Given the description of an element on the screen output the (x, y) to click on. 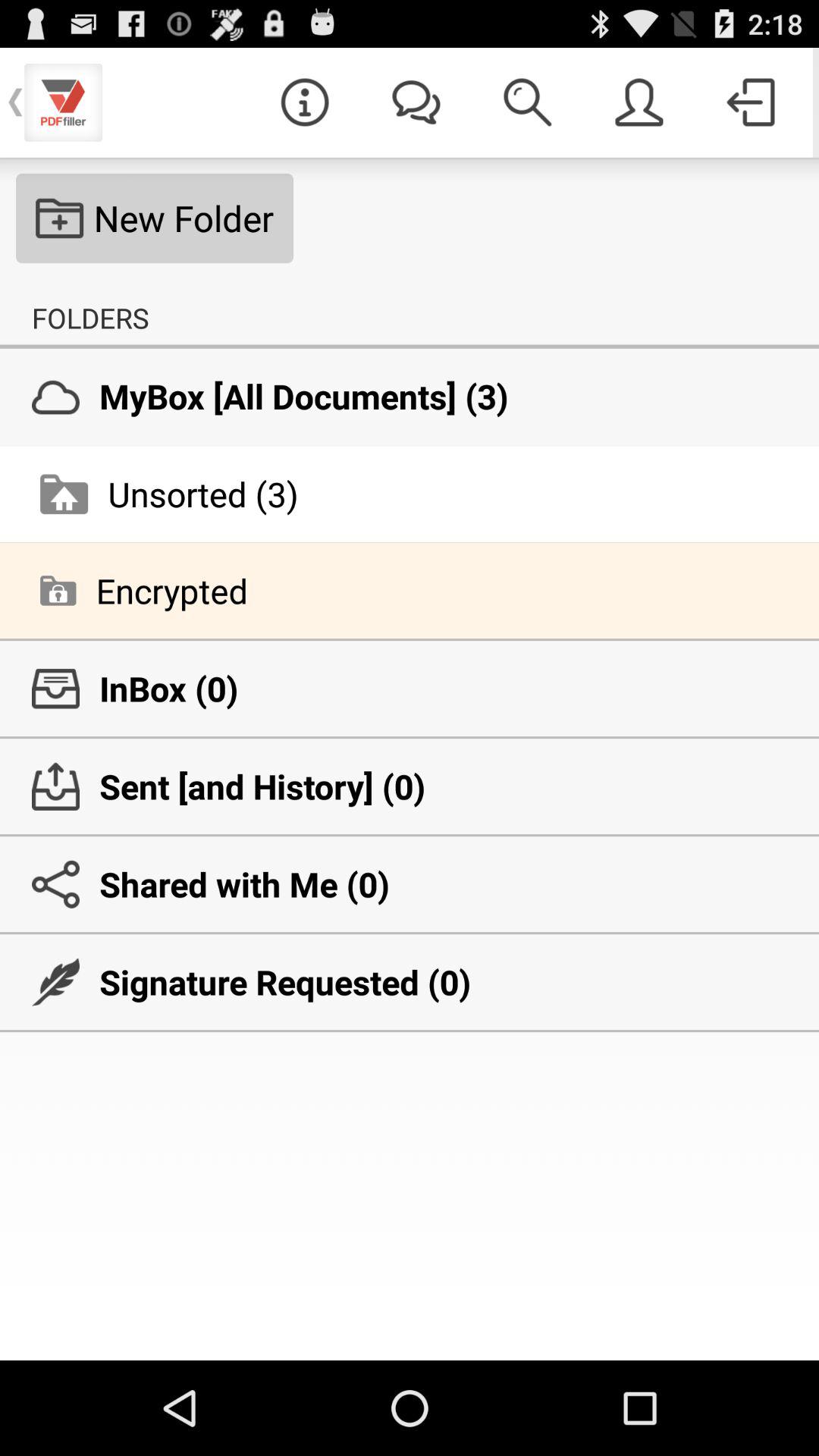
choose the signature requested (0) item (409, 982)
